Given the description of an element on the screen output the (x, y) to click on. 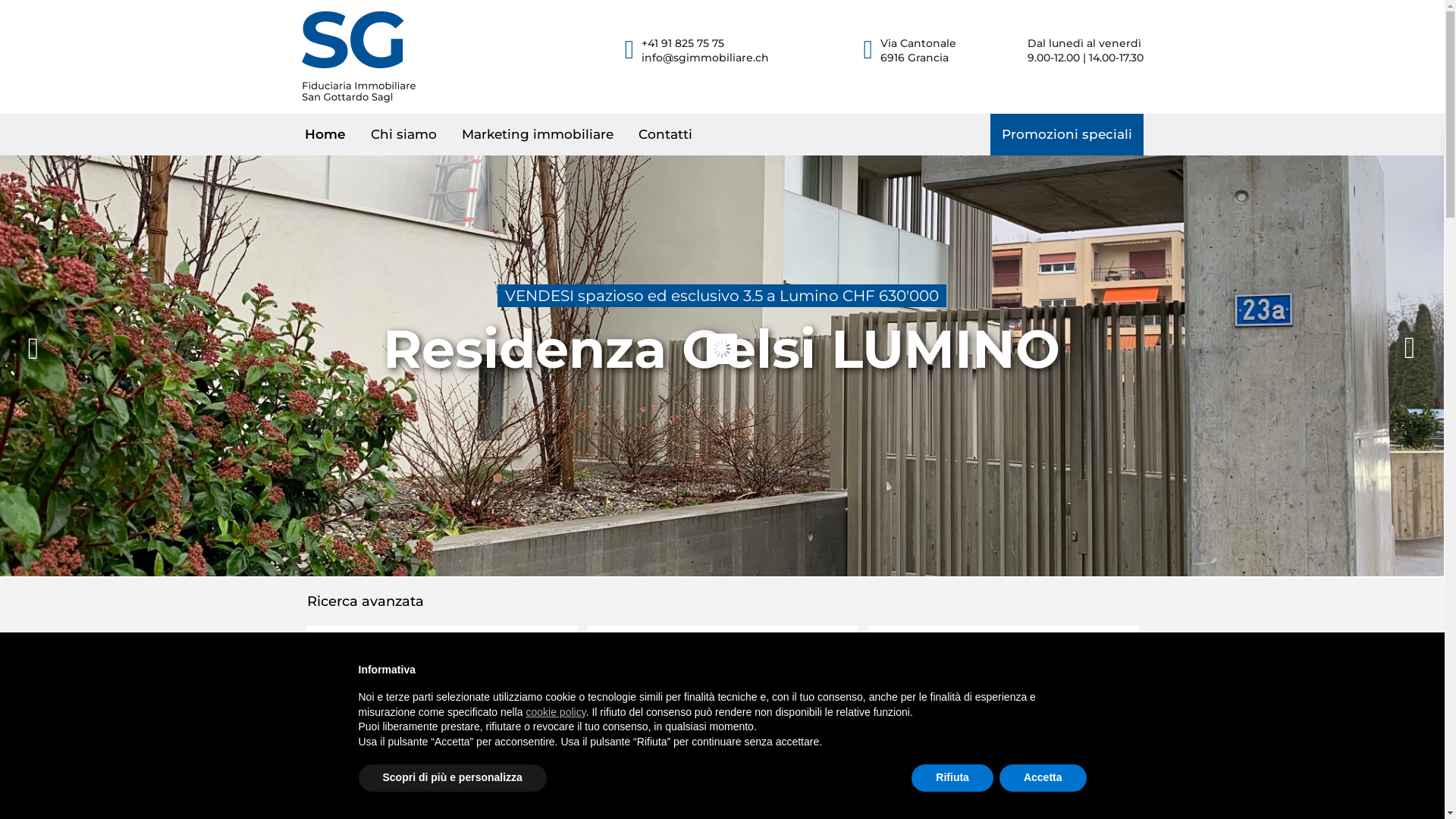
Promozioni speciali Element type: text (1066, 134)
cookie policy Element type: text (556, 712)
Chi siamo Element type: text (403, 134)
Home Element type: text (325, 134)
Accetta Element type: text (1042, 777)
Rifiuta Element type: text (952, 777)
Contatti Element type: text (665, 134)
Marketing immobiliare Element type: text (537, 134)
